Given the description of an element on the screen output the (x, y) to click on. 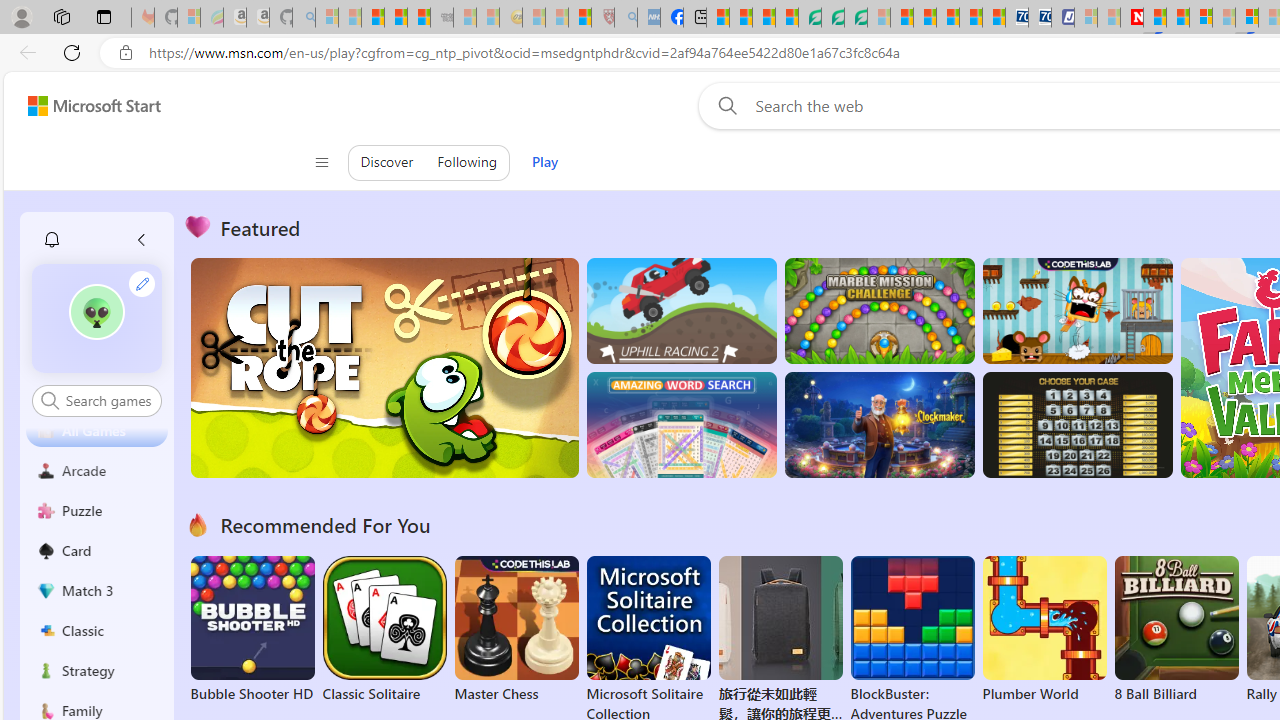
Cut the Rope (383, 367)
Amazing Word Search (681, 425)
Bubble Shooter HD (251, 629)
Latest Politics News & Archive | Newsweek.com (1132, 17)
The Weather Channel - MSN (372, 17)
LendingTree - Compare Lenders (809, 17)
